Given the description of an element on the screen output the (x, y) to click on. 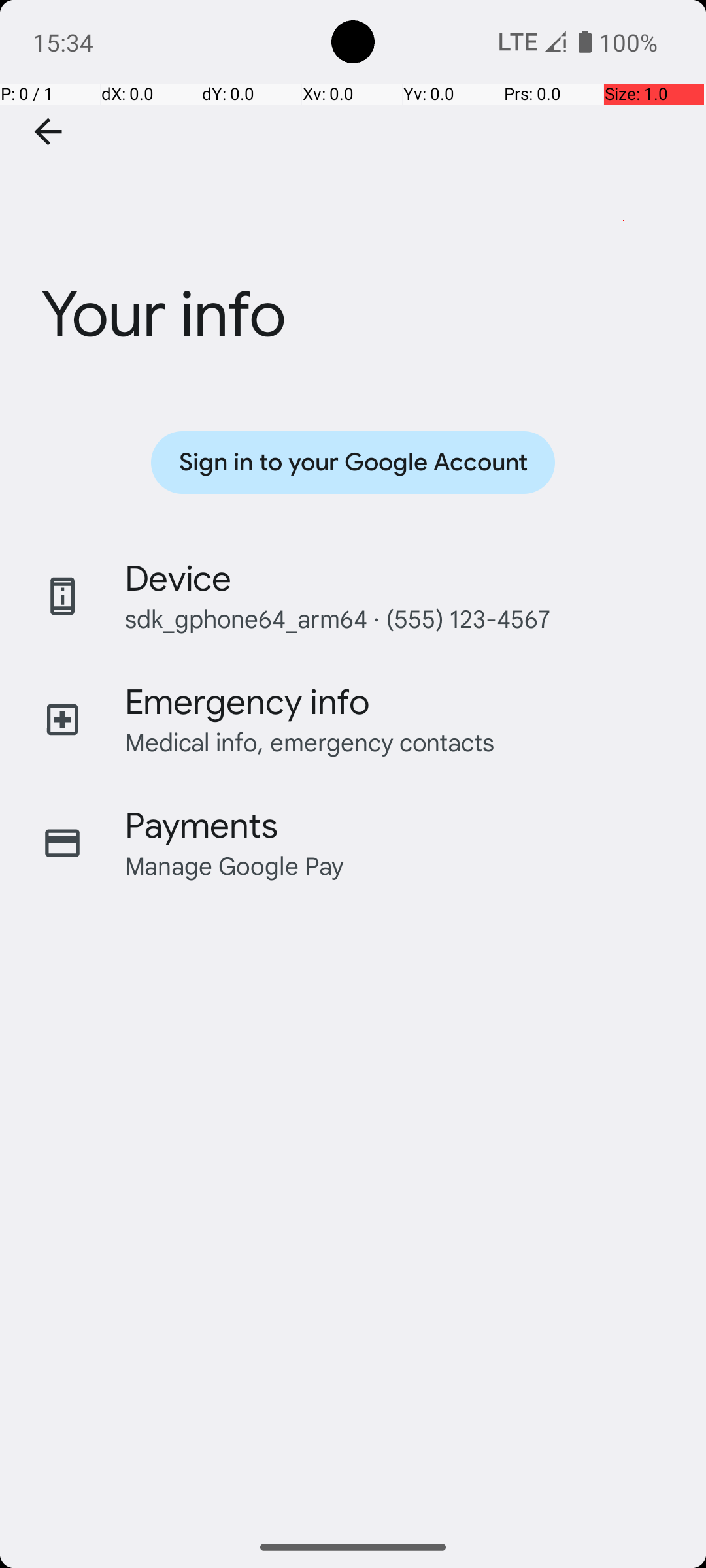
Sign in to your Google Account Element type: android.widget.Button (352, 462)
sdk_gphone64_arm64 · (555) 123-4567 Element type: android.widget.TextView (337, 618)
Emergency info Element type: android.widget.TextView (246, 702)
Medical info, emergency contacts Element type: android.widget.TextView (309, 741)
Payments Element type: android.widget.TextView (200, 825)
Manage Google Pay Element type: android.widget.TextView (234, 865)
